Given the description of an element on the screen output the (x, y) to click on. 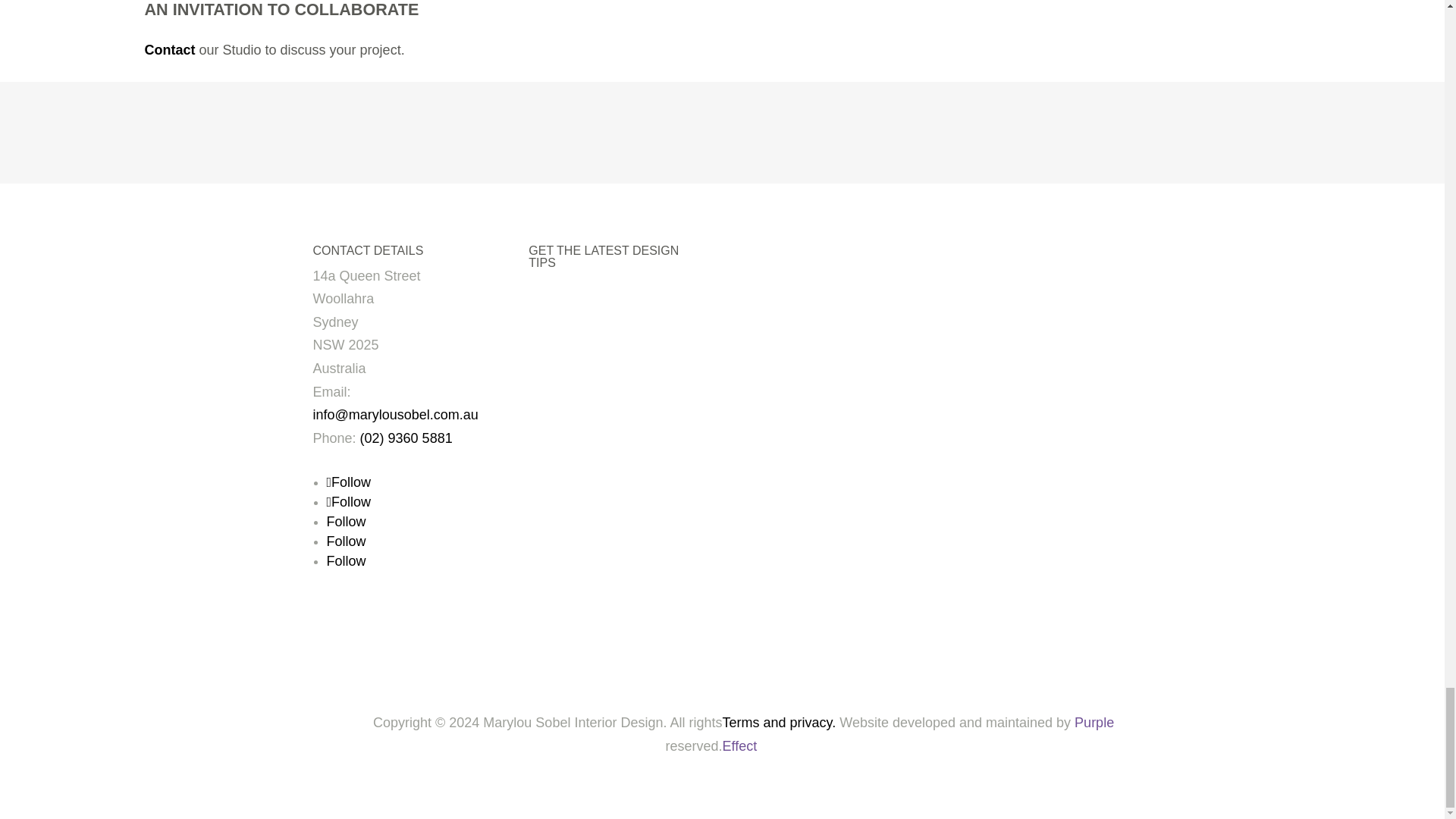
Follow (345, 540)
Follow on LinkedIn (345, 540)
Follow (345, 560)
Contact (169, 49)
Visit purpleeffect.com (917, 733)
Follow (348, 501)
Follow on Instagram (348, 482)
Terms and privacy. (778, 722)
Follow on Youtube (345, 560)
Follow on Facebook (348, 501)
Purple Effect (917, 733)
Follow on Pinterest (345, 521)
Follow (348, 482)
Follow (345, 521)
